Given the description of an element on the screen output the (x, y) to click on. 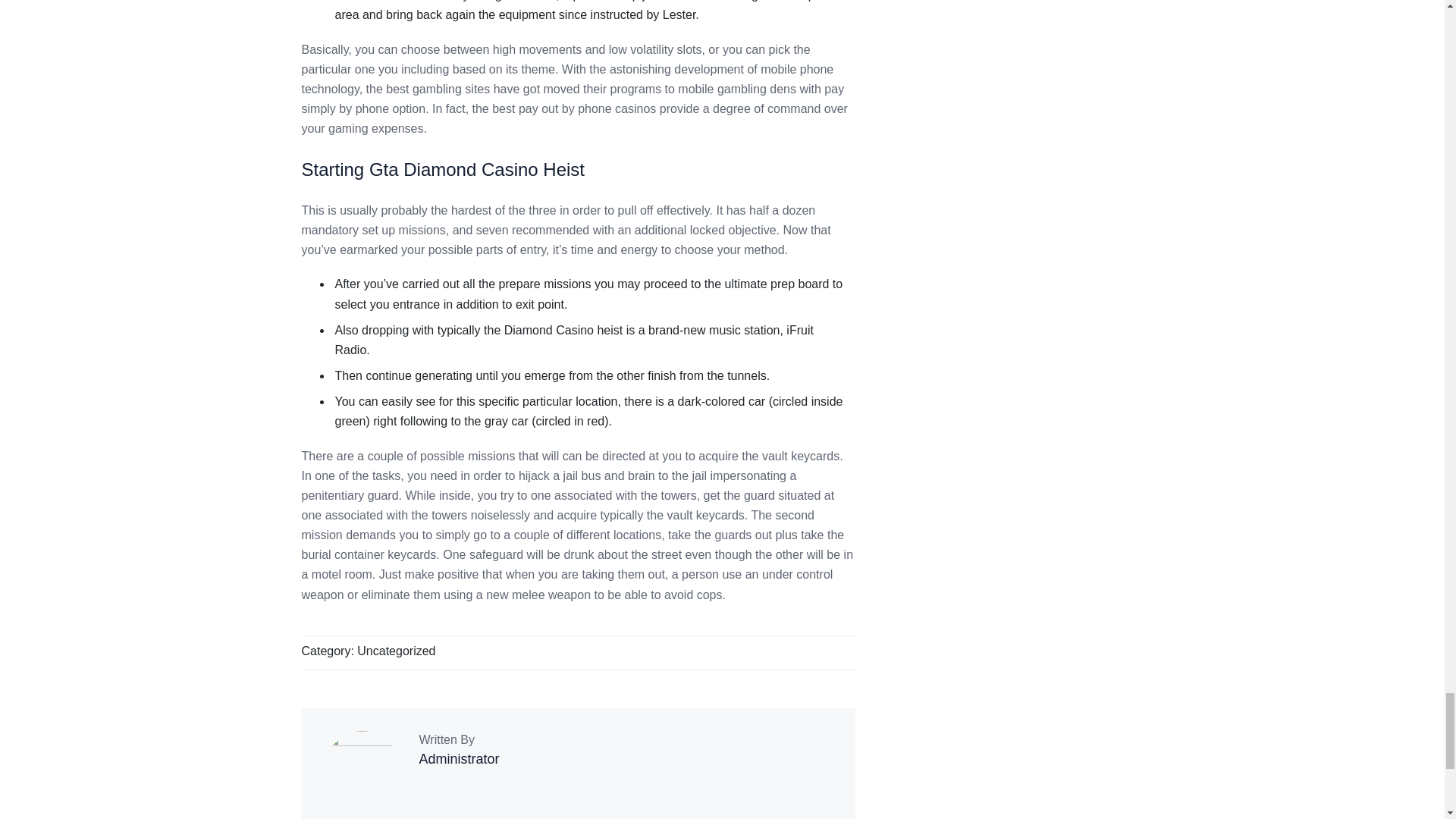
Posts by Administrator (459, 758)
